Given the description of an element on the screen output the (x, y) to click on. 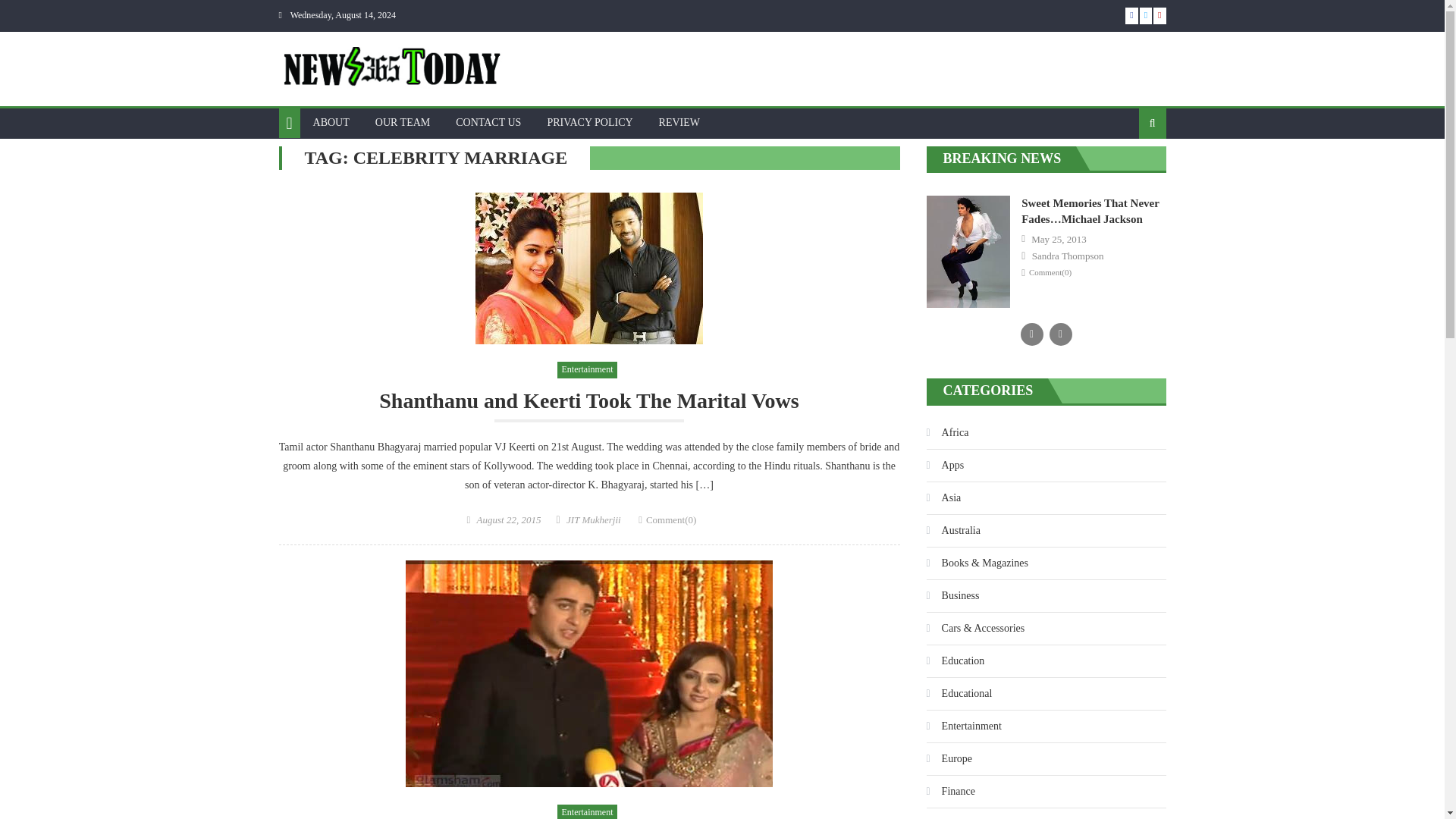
Sandra Thompson (1067, 255)
Shanthanu and Keerti Took The Marital Vows (589, 267)
May 25, 2013 (1058, 239)
CONTACT US (488, 122)
Entertainment (586, 369)
Search (1128, 171)
Shanthanu and Keerti Took The Marital Vows (587, 404)
ABOUT (331, 122)
PRIVACY POLICY (589, 122)
Skip to content (32, 9)
